Given the description of an element on the screen output the (x, y) to click on. 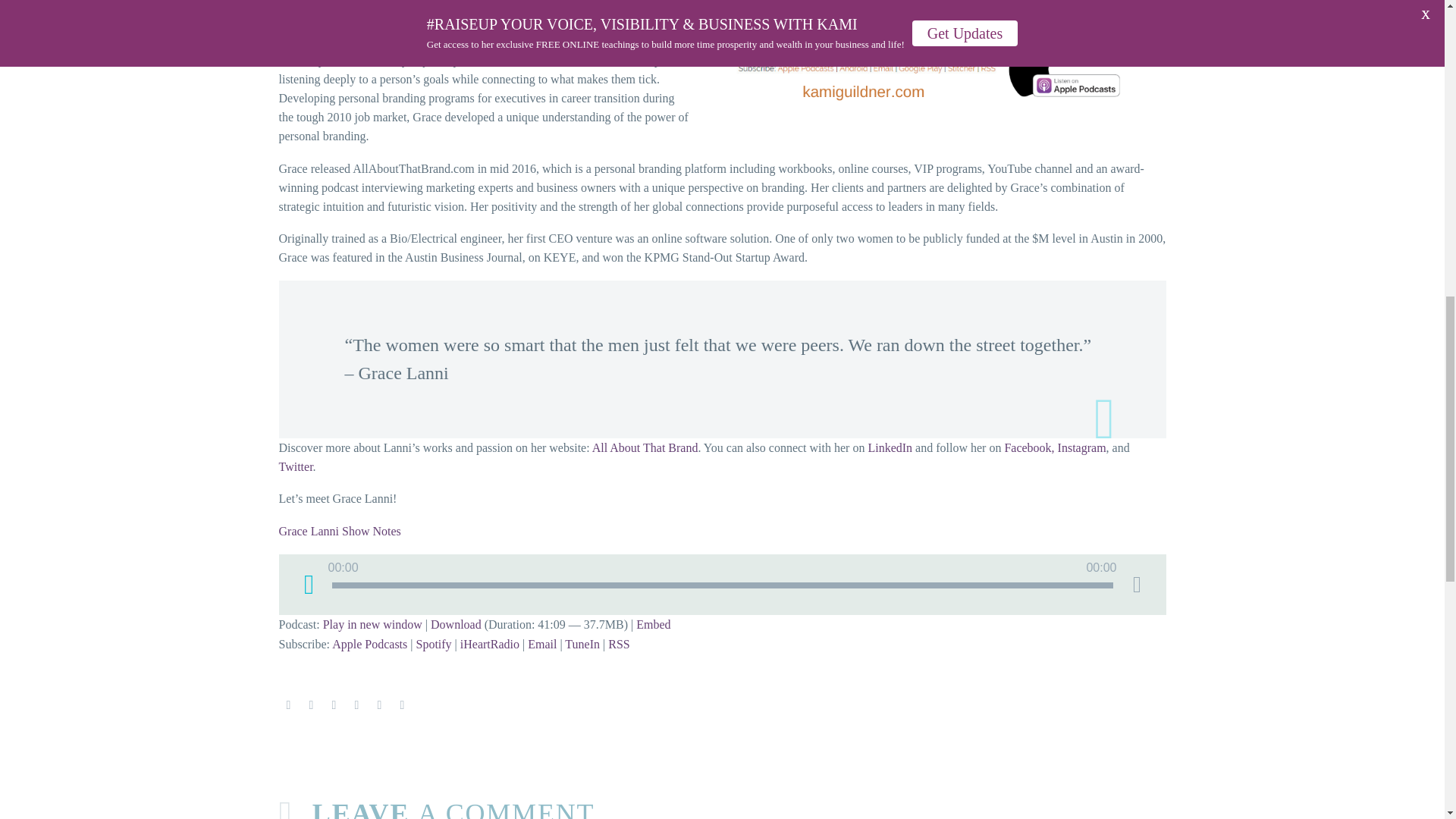
Play (309, 584)
Denise Liebetrau (938, 65)
Mute (1136, 584)
